Given the description of an element on the screen output the (x, y) to click on. 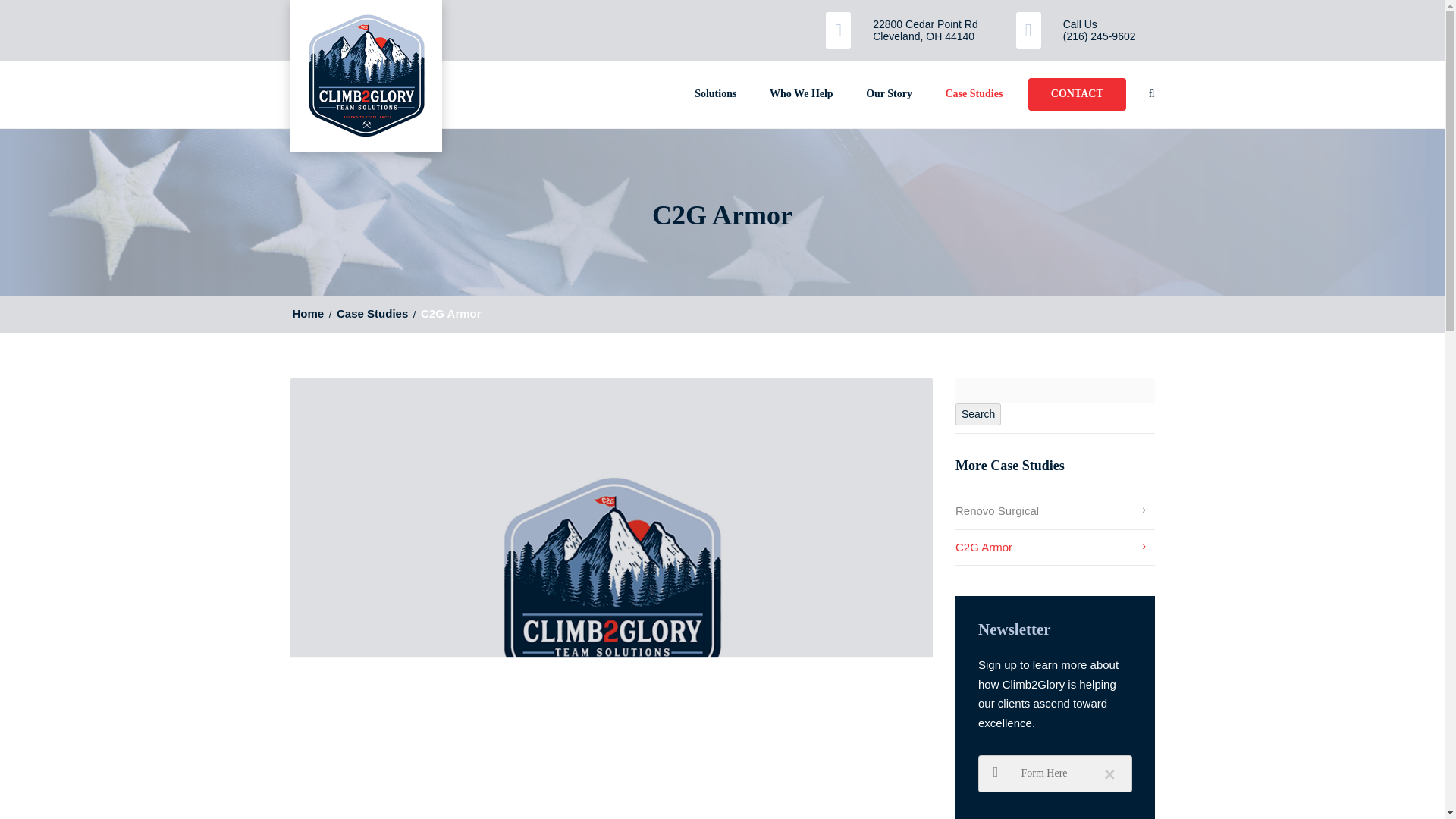
Search (978, 414)
Solutions (715, 93)
Our Story (889, 93)
Who We Help (801, 93)
Case Studies (372, 313)
CONTACT (1076, 93)
Case Studies (973, 93)
C2G Armor (1054, 547)
Renovo Surgical (1054, 511)
Search (1151, 93)
